Given the description of an element on the screen output the (x, y) to click on. 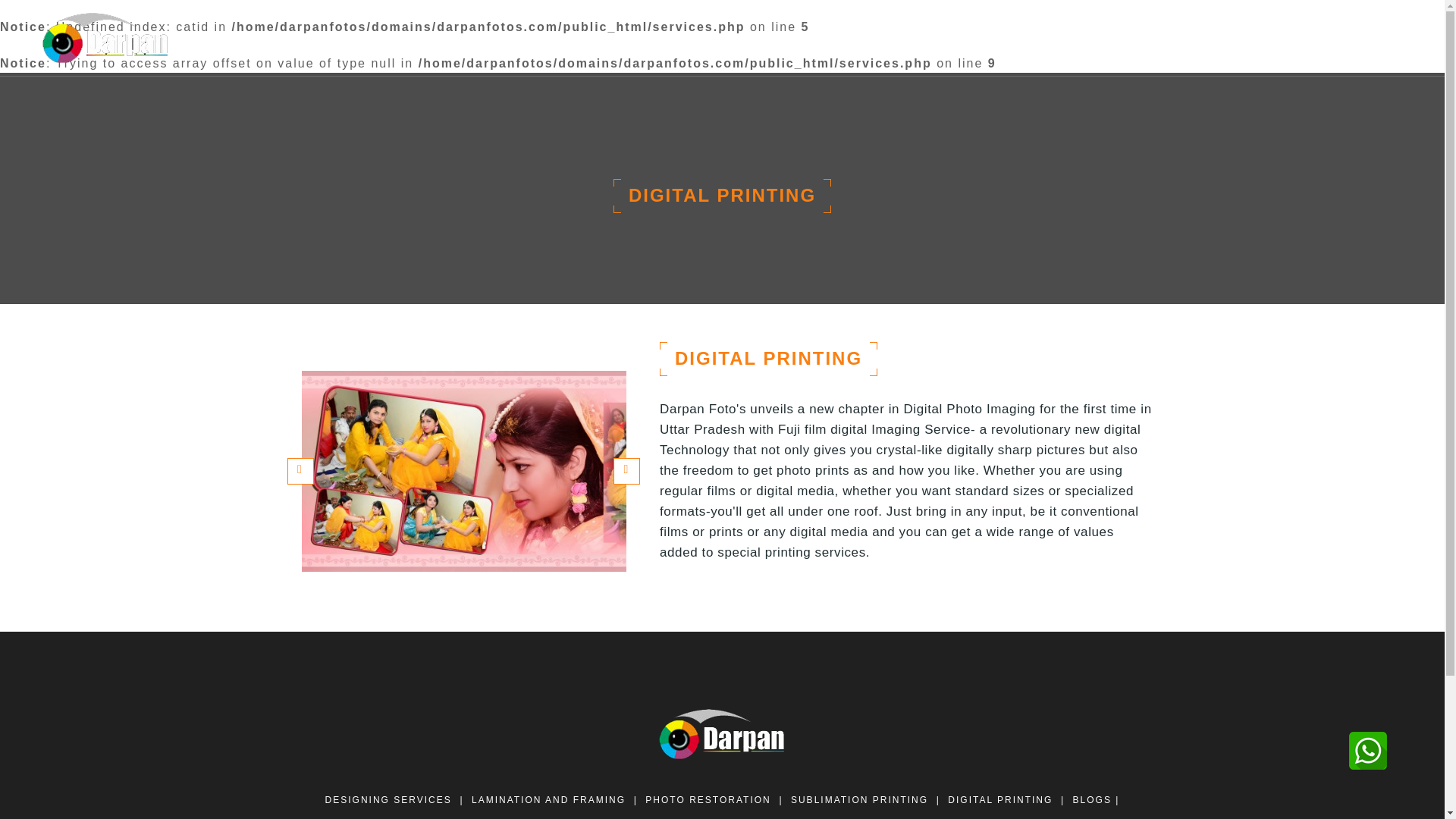
TESTIMONIAL (721, 817)
FUNCTION PHOTOGRAPHY (1028, 37)
CONTACT (1381, 37)
STUDIO PHOTOGRAPHY (1193, 37)
CINEMATOGRAPHY (879, 37)
SERVICES (1309, 37)
